Given the description of an element on the screen output the (x, y) to click on. 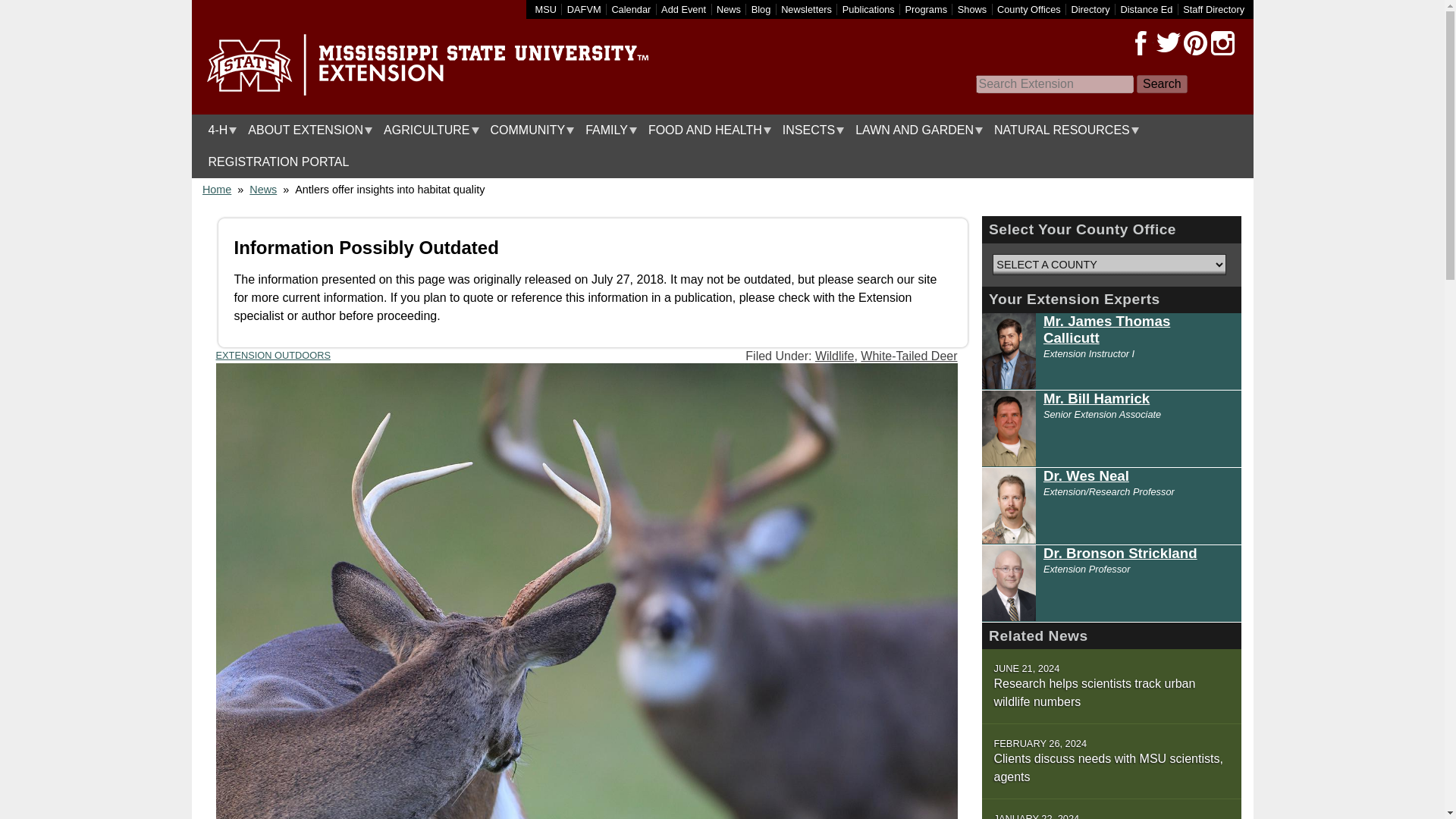
Calendar (630, 9)
Find a county extension office (1029, 9)
Link to Mississippi State University (545, 9)
Distance Ed (1145, 9)
Blog (761, 9)
Newsletters (805, 9)
Publications (869, 9)
Shows (972, 9)
News (728, 9)
List of Extension Programs (926, 9)
Directory of employees of the MSU Extension Service (1213, 9)
The main event calendar for the MSU Extension Service (630, 9)
Instagram (1221, 43)
